Given the description of an element on the screen output the (x, y) to click on. 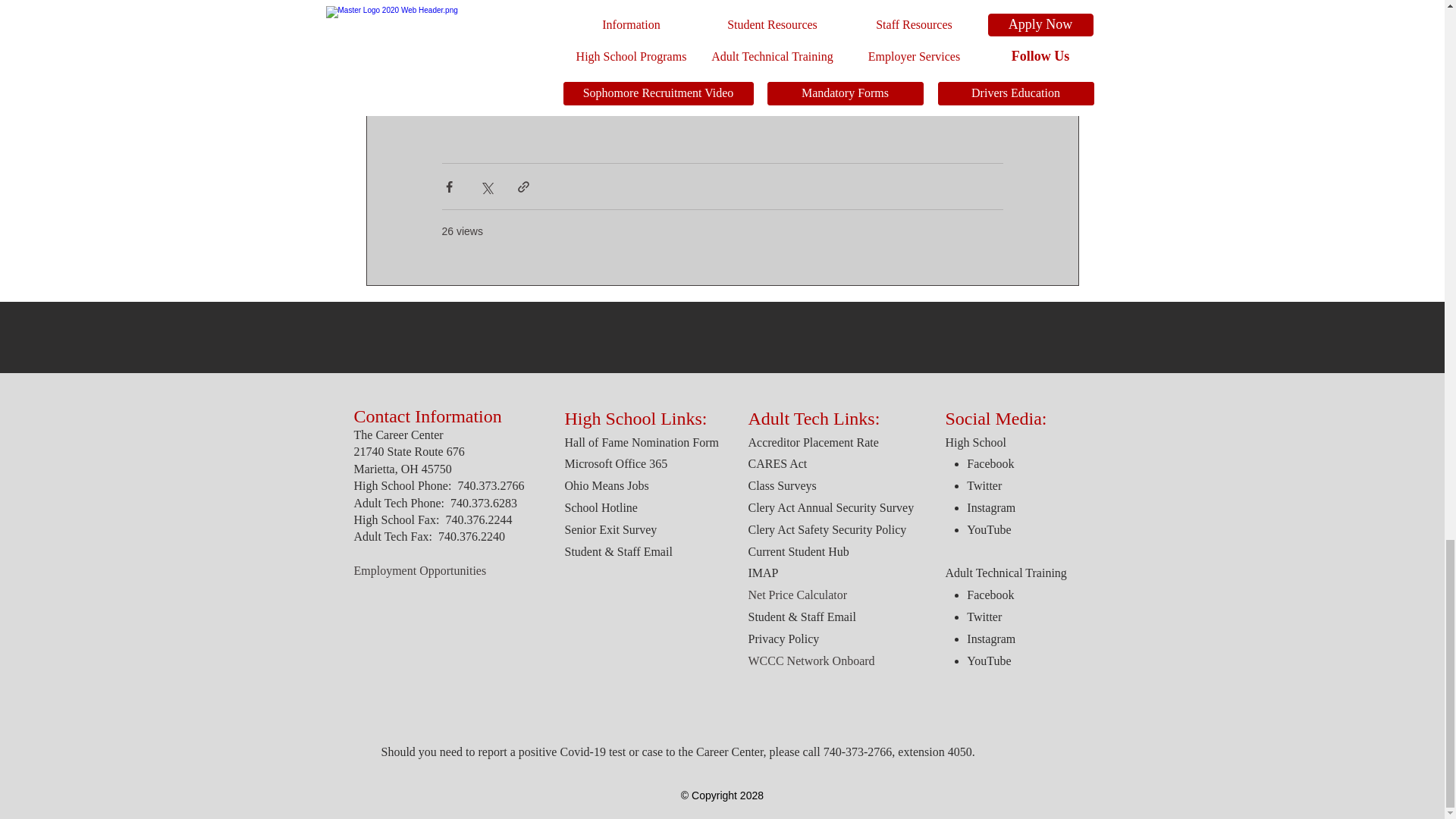
CARES Act (777, 463)
IMAP (762, 572)
Current Student Hub (798, 551)
School Hotline (600, 507)
Microsoft Office 365 (615, 463)
High School (975, 441)
Hall of Fame Nomination Form (641, 441)
Net Price Calculator (797, 594)
Employment Opportunities (419, 570)
WCCC Network Onboard (811, 660)
